Given the description of an element on the screen output the (x, y) to click on. 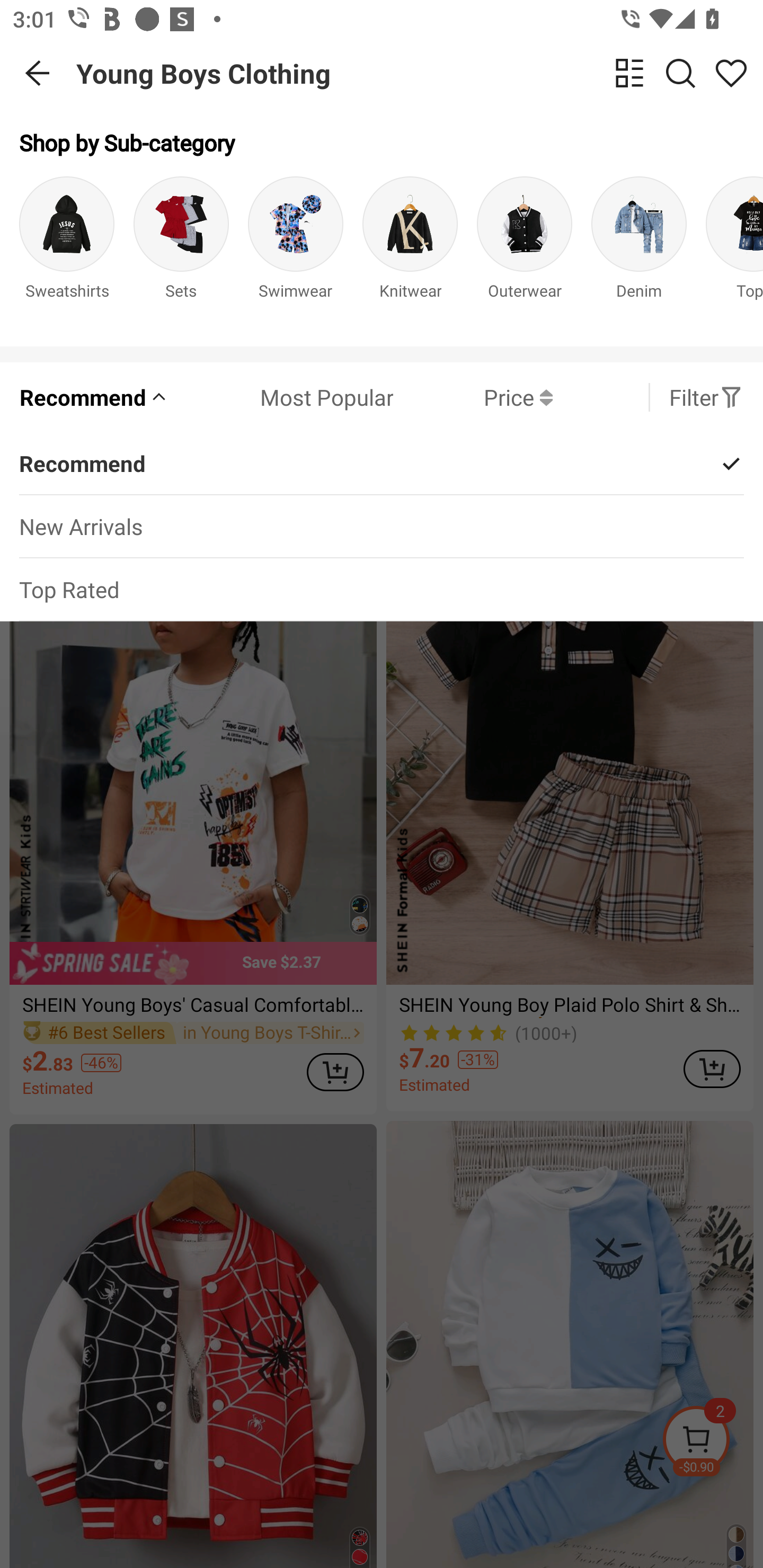
Young Boys Clothing change view Search Share (419, 72)
change view (629, 72)
Search (679, 72)
Share (730, 72)
Sweatshirts (66, 251)
Sets (180, 251)
Swimwear (295, 251)
Knitwear (409, 251)
Outerwear (524, 251)
Denim (638, 251)
Tops (734, 251)
Recommend (94, 397)
Most Popular (280, 397)
Price (472, 397)
Filter (705, 397)
